Given the description of an element on the screen output the (x, y) to click on. 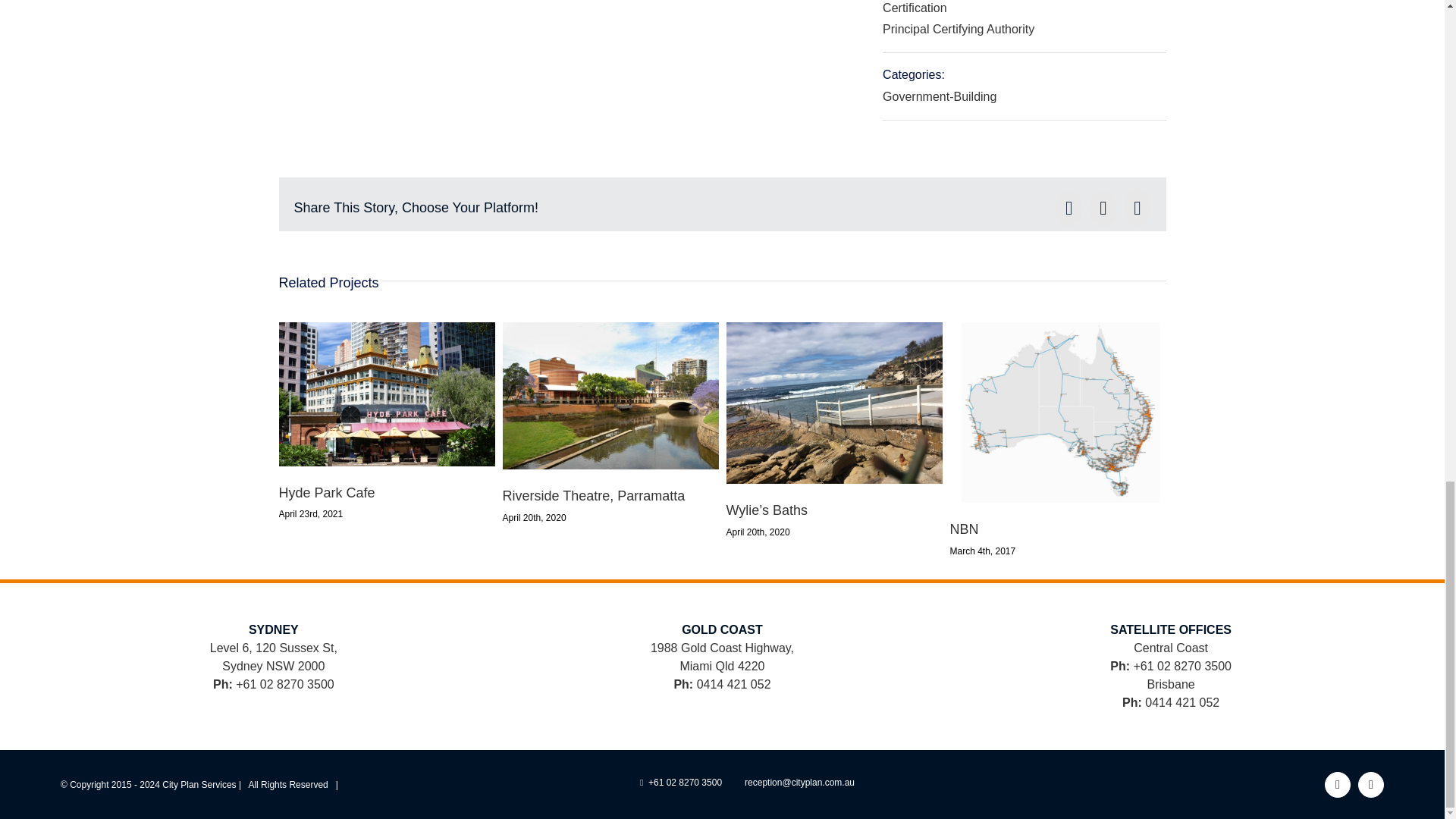
Riverside Theatre, Parramatta (593, 495)
NBN (963, 529)
Hyde Park Cafe (327, 492)
